Given the description of an element on the screen output the (x, y) to click on. 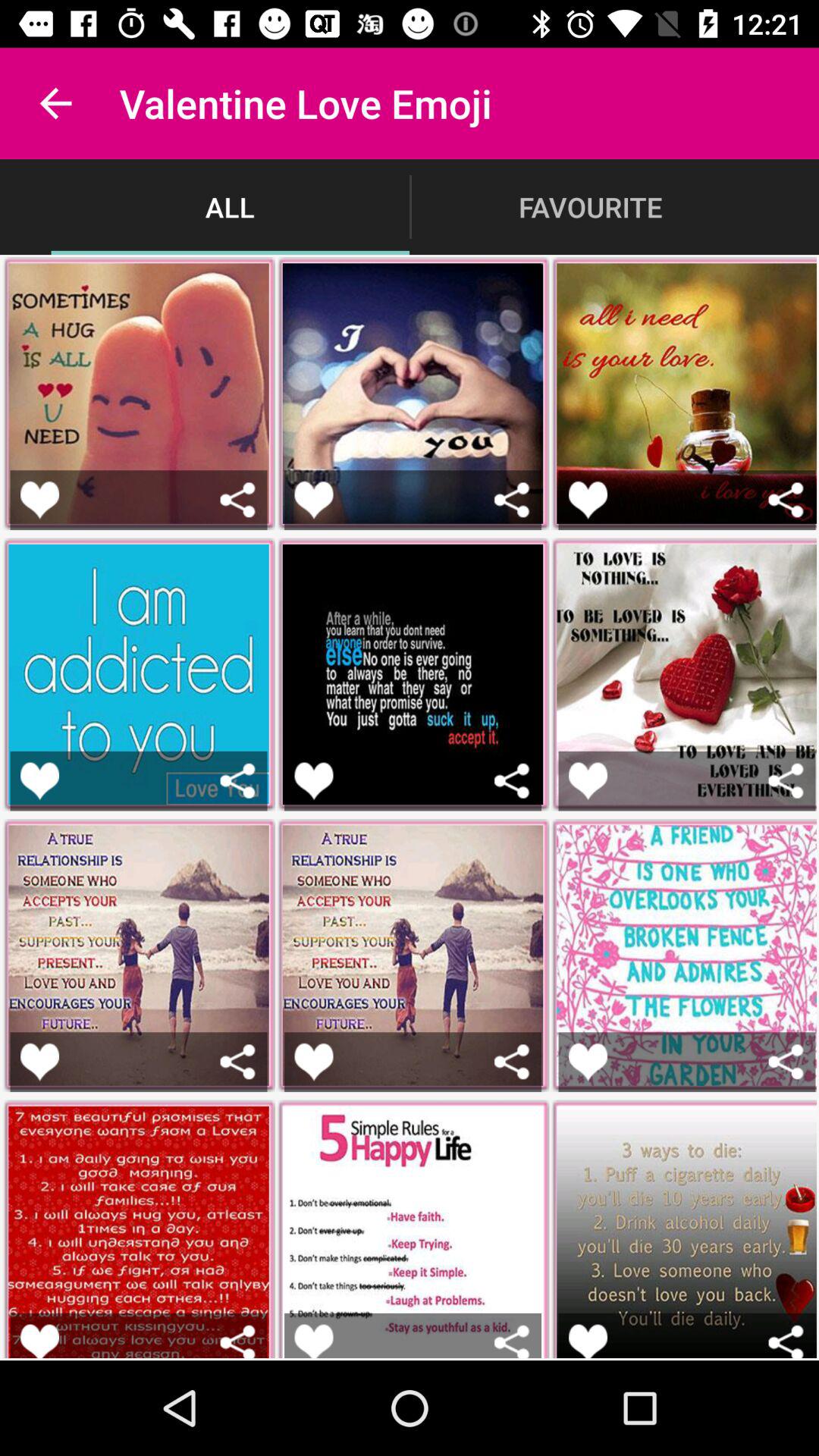
to like a picture (313, 499)
